Given the description of an element on the screen output the (x, y) to click on. 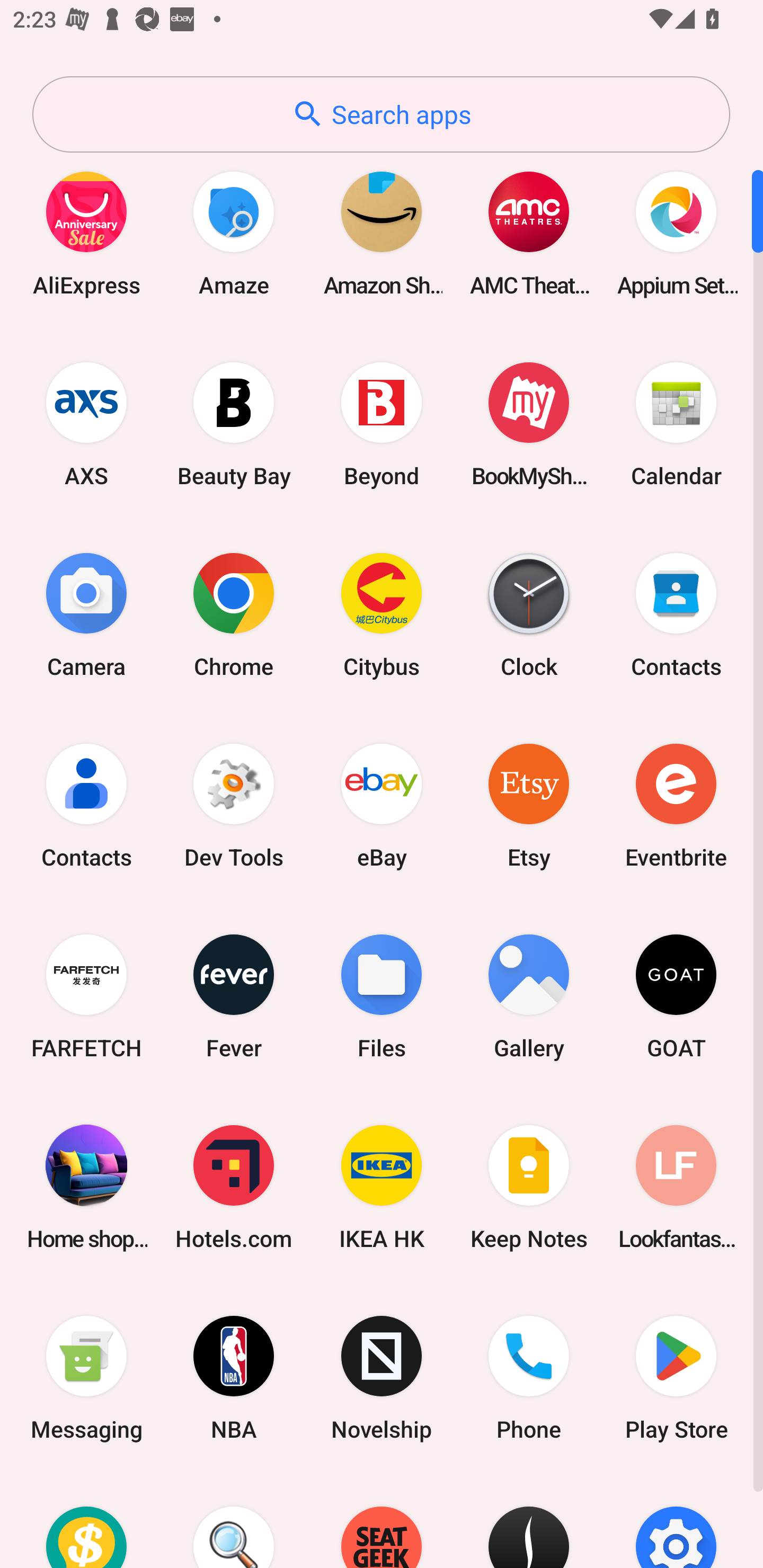
  Search apps (381, 114)
AliExpress (86, 233)
Amaze (233, 233)
Amazon Shopping (381, 233)
AMC Theatres (528, 233)
Appium Settings (676, 233)
AXS (86, 424)
Beauty Bay (233, 424)
Beyond (381, 424)
BookMyShow (528, 424)
Calendar (676, 424)
Camera (86, 614)
Chrome (233, 614)
Citybus (381, 614)
Clock (528, 614)
Contacts (676, 614)
Contacts (86, 805)
Dev Tools (233, 805)
eBay (381, 805)
Etsy (528, 805)
Eventbrite (676, 805)
FARFETCH (86, 996)
Fever (233, 996)
Files (381, 996)
Gallery (528, 996)
GOAT (676, 996)
Home shopping (86, 1186)
Hotels.com (233, 1186)
IKEA HK (381, 1186)
Keep Notes (528, 1186)
Lookfantastic (676, 1186)
Messaging (86, 1377)
NBA (233, 1377)
Novelship (381, 1377)
Phone (528, 1377)
Play Store (676, 1377)
